Given the description of an element on the screen output the (x, y) to click on. 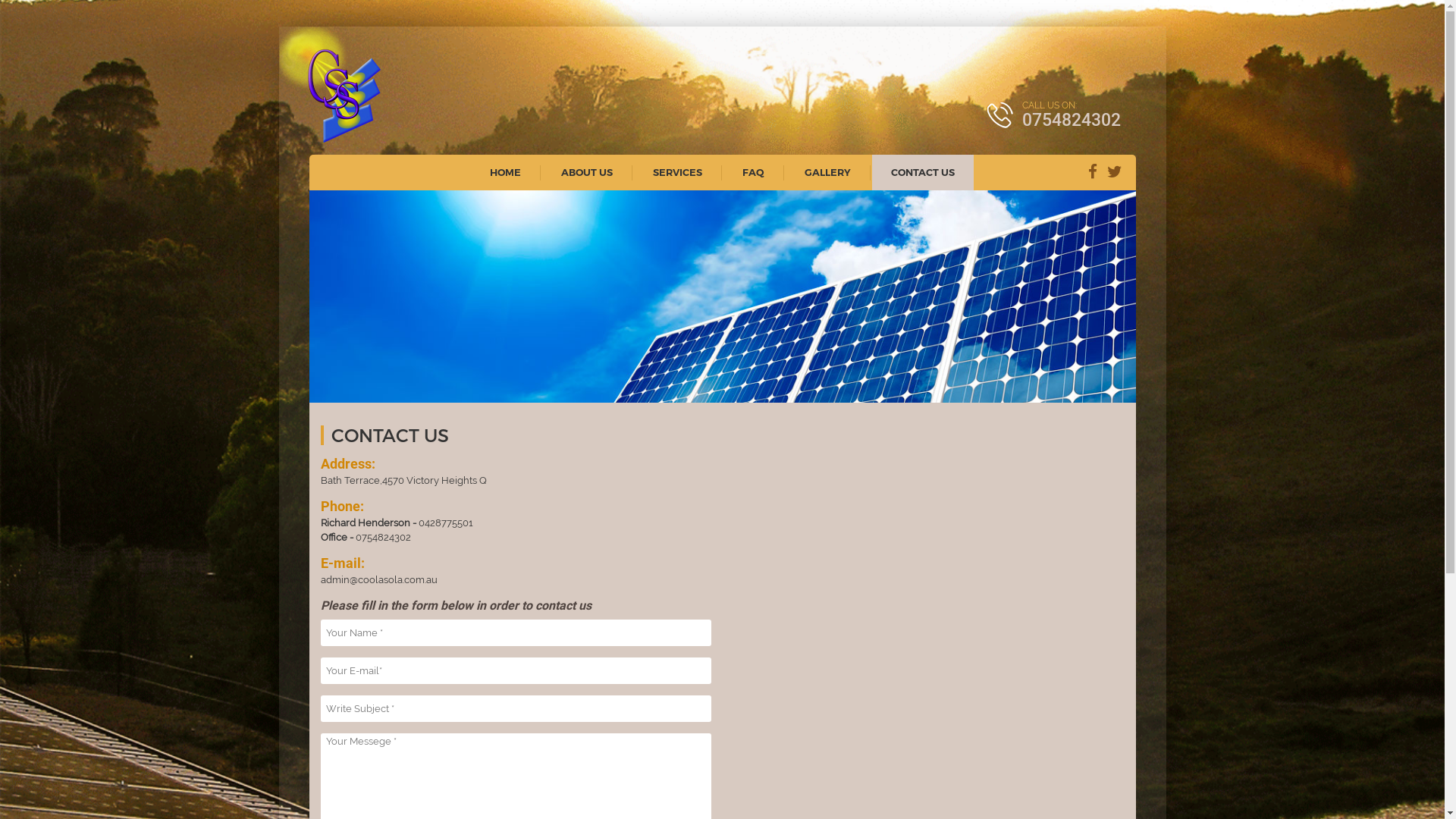
0428775501 Element type: text (445, 522)
FAQ Element type: text (753, 172)
ABOUT US Element type: text (586, 172)
HOME Element type: text (504, 172)
GALLERY Element type: text (827, 172)
SERVICES Element type: text (677, 172)
0754824302 Element type: text (1071, 119)
admin@coolasola.com.au Element type: text (378, 579)
CONTACT US Element type: text (922, 172)
0754824302 Element type: text (382, 536)
